Given the description of an element on the screen output the (x, y) to click on. 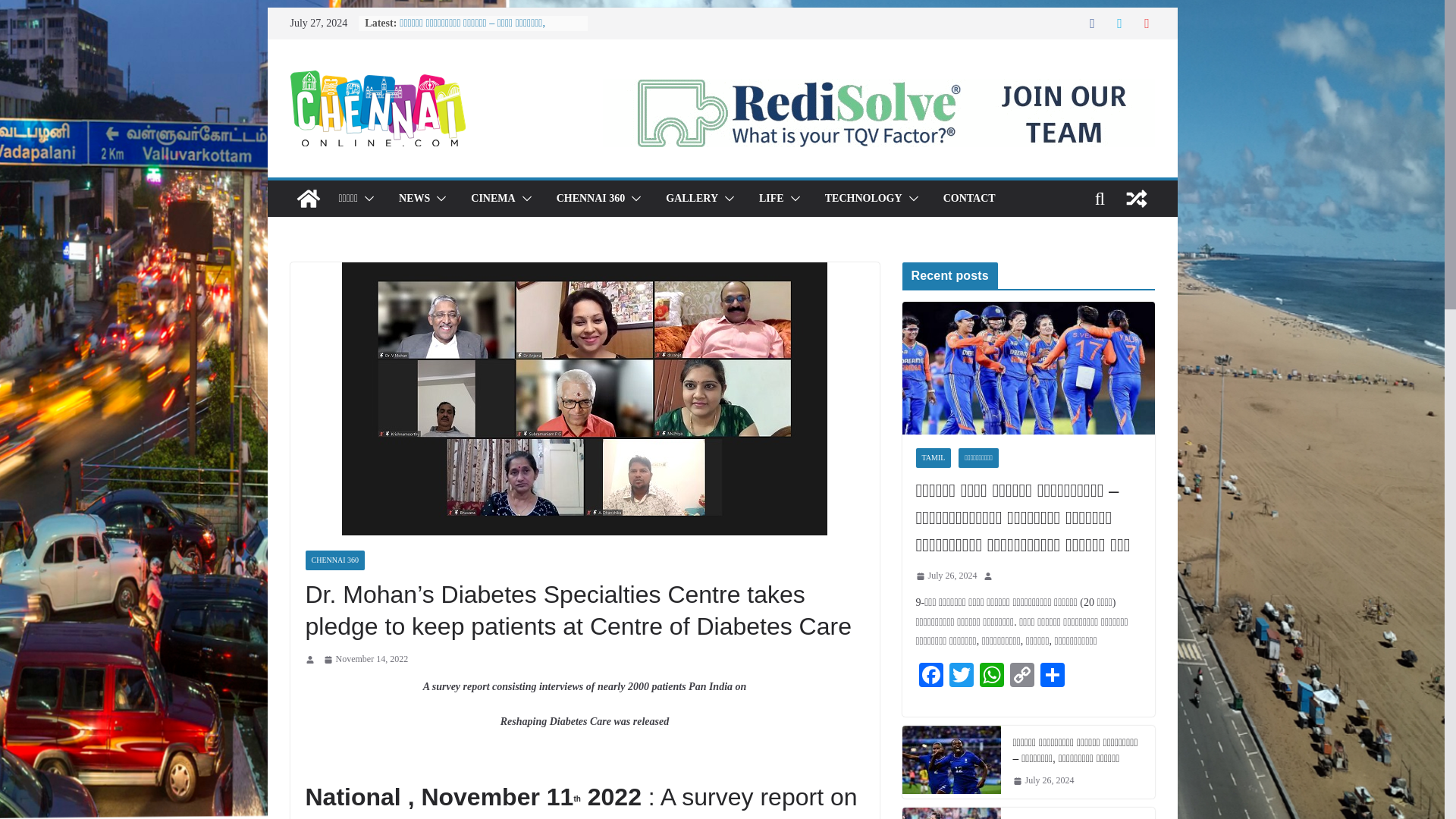
CINEMA (492, 198)
View a random post (1136, 198)
2:59 PM (365, 659)
Chennaionline (307, 198)
9:44 PM (945, 576)
CHENNAI 360 (591, 198)
GALLERY (691, 198)
NEWS (413, 198)
